Given the description of an element on the screen output the (x, y) to click on. 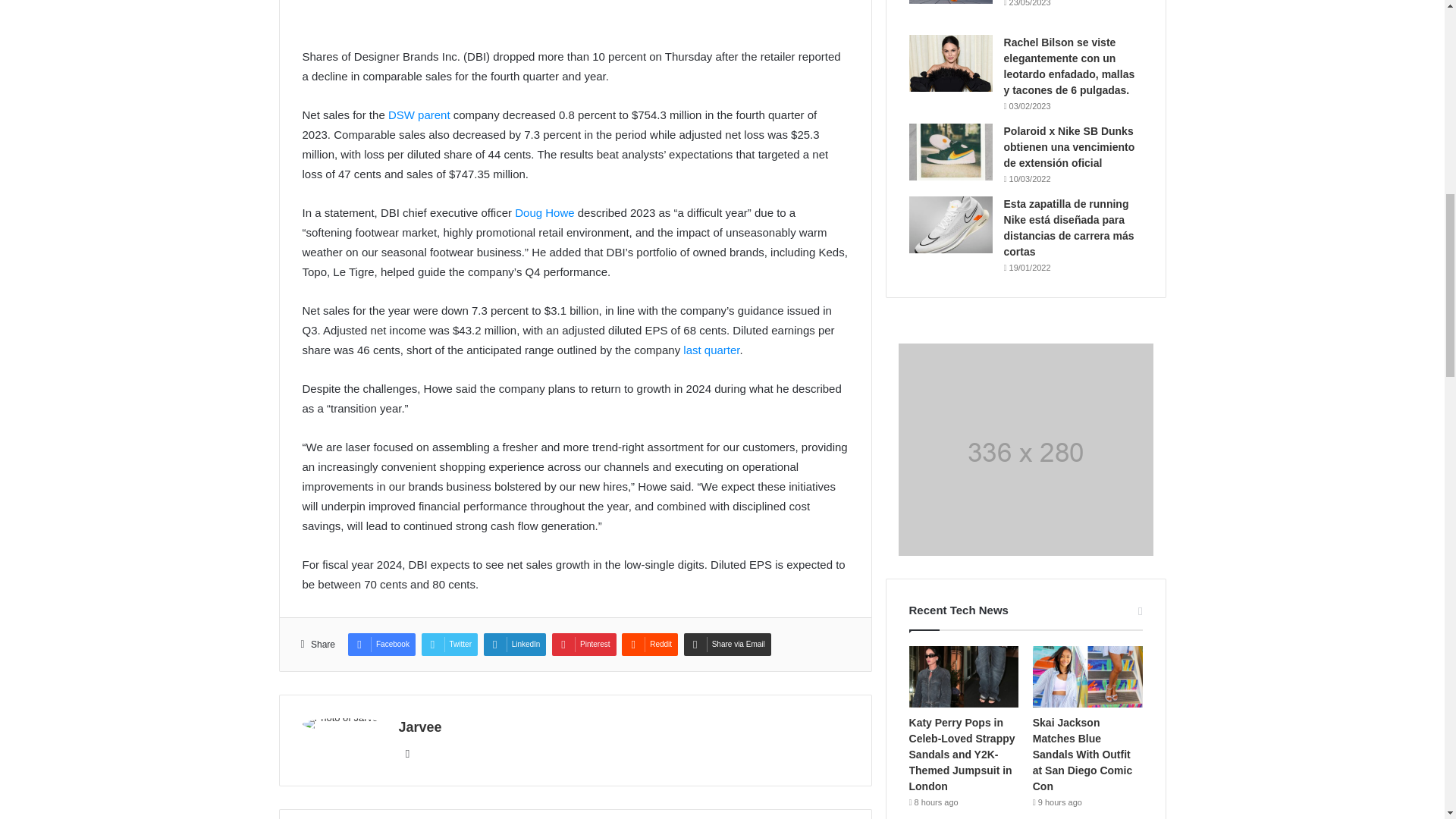
Doug Howe (544, 212)
last quarter (710, 349)
DSW parent (418, 114)
